Given the description of an element on the screen output the (x, y) to click on. 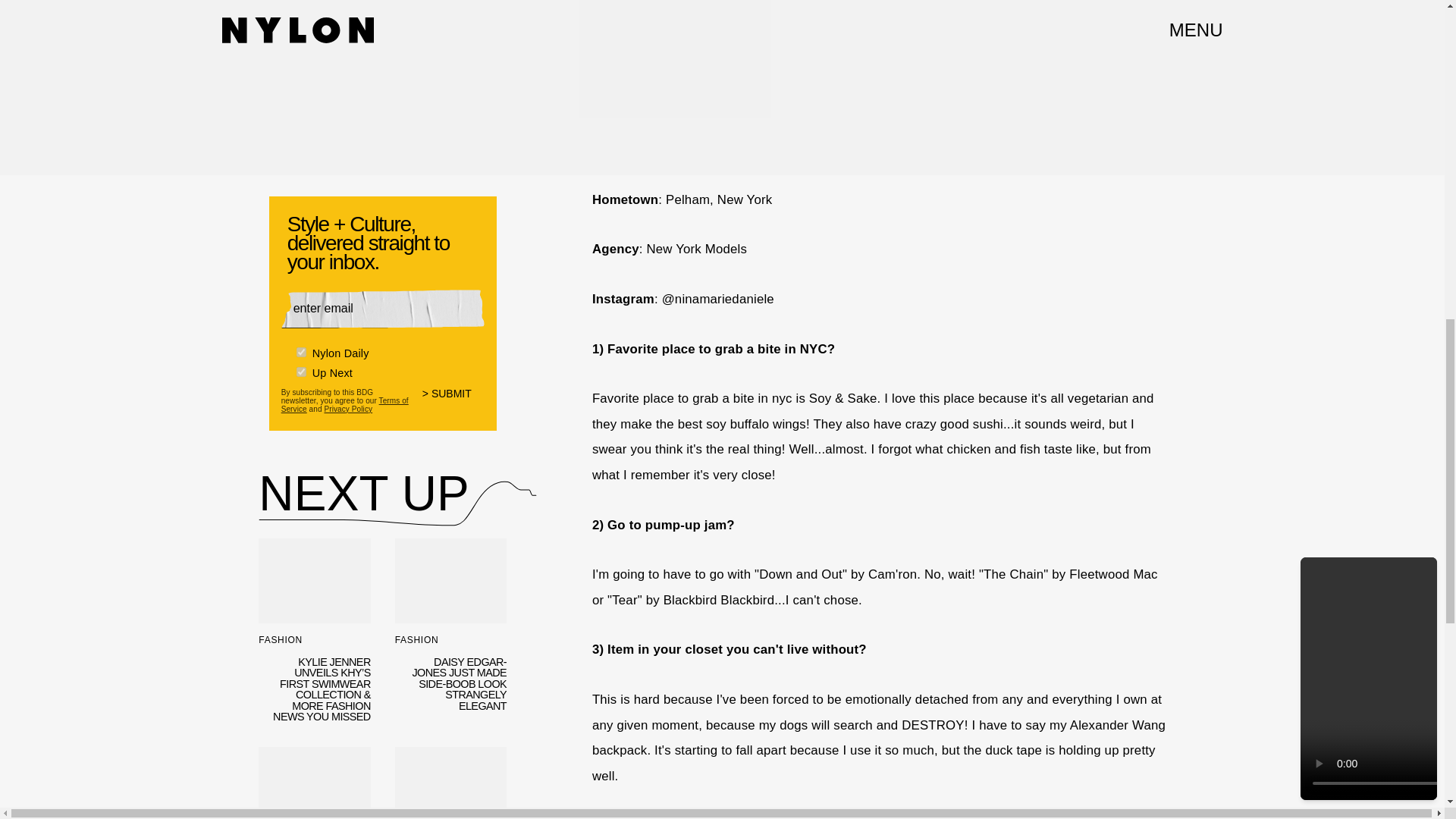
SUBMIT (453, 396)
Terms of Service (345, 399)
Privacy Policy (347, 405)
